Given the description of an element on the screen output the (x, y) to click on. 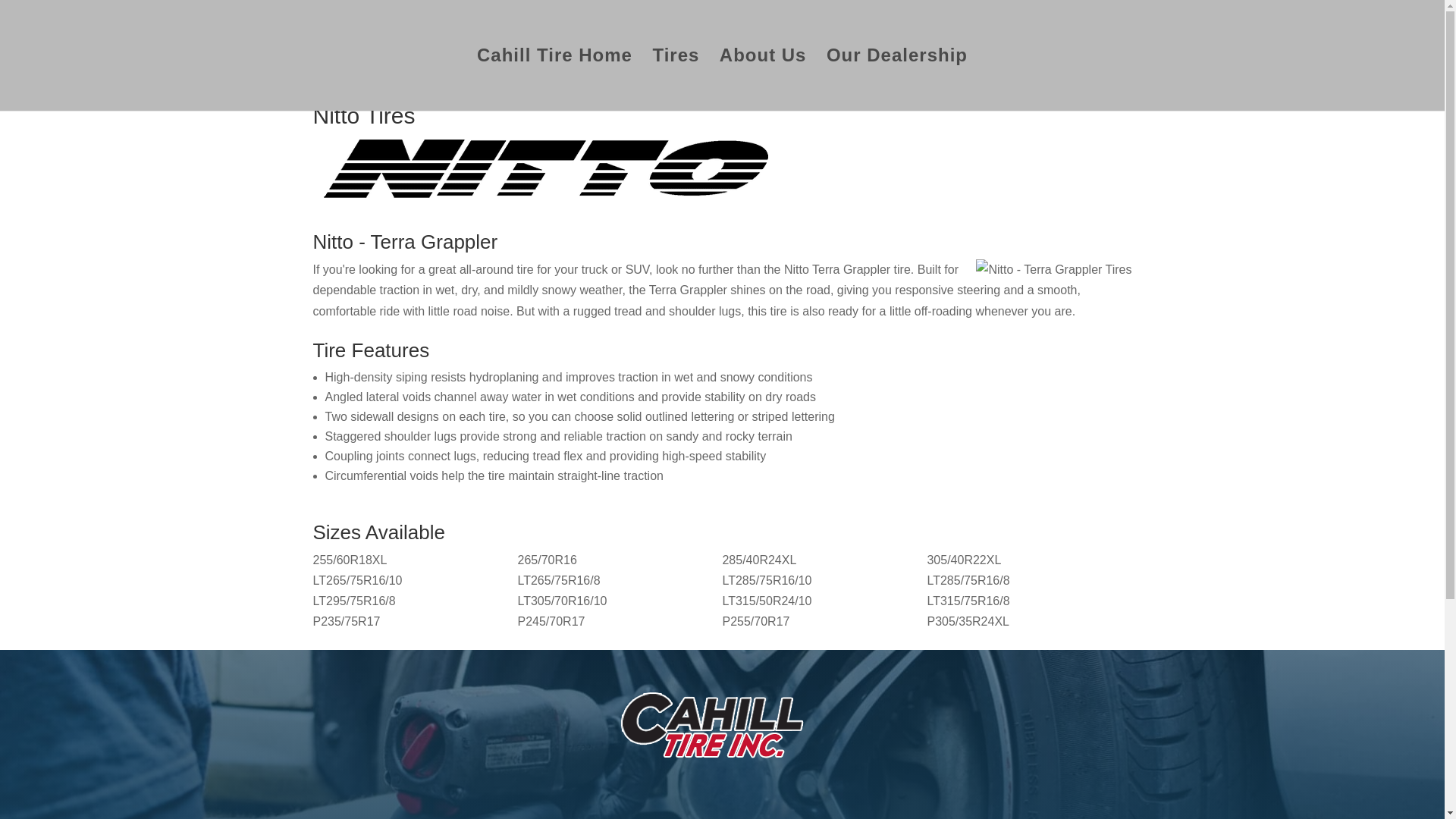
Cahill Tire Home (554, 79)
About Us (762, 79)
Cahill-Tire (722, 733)
Our Dealership (897, 79)
